Given the description of an element on the screen output the (x, y) to click on. 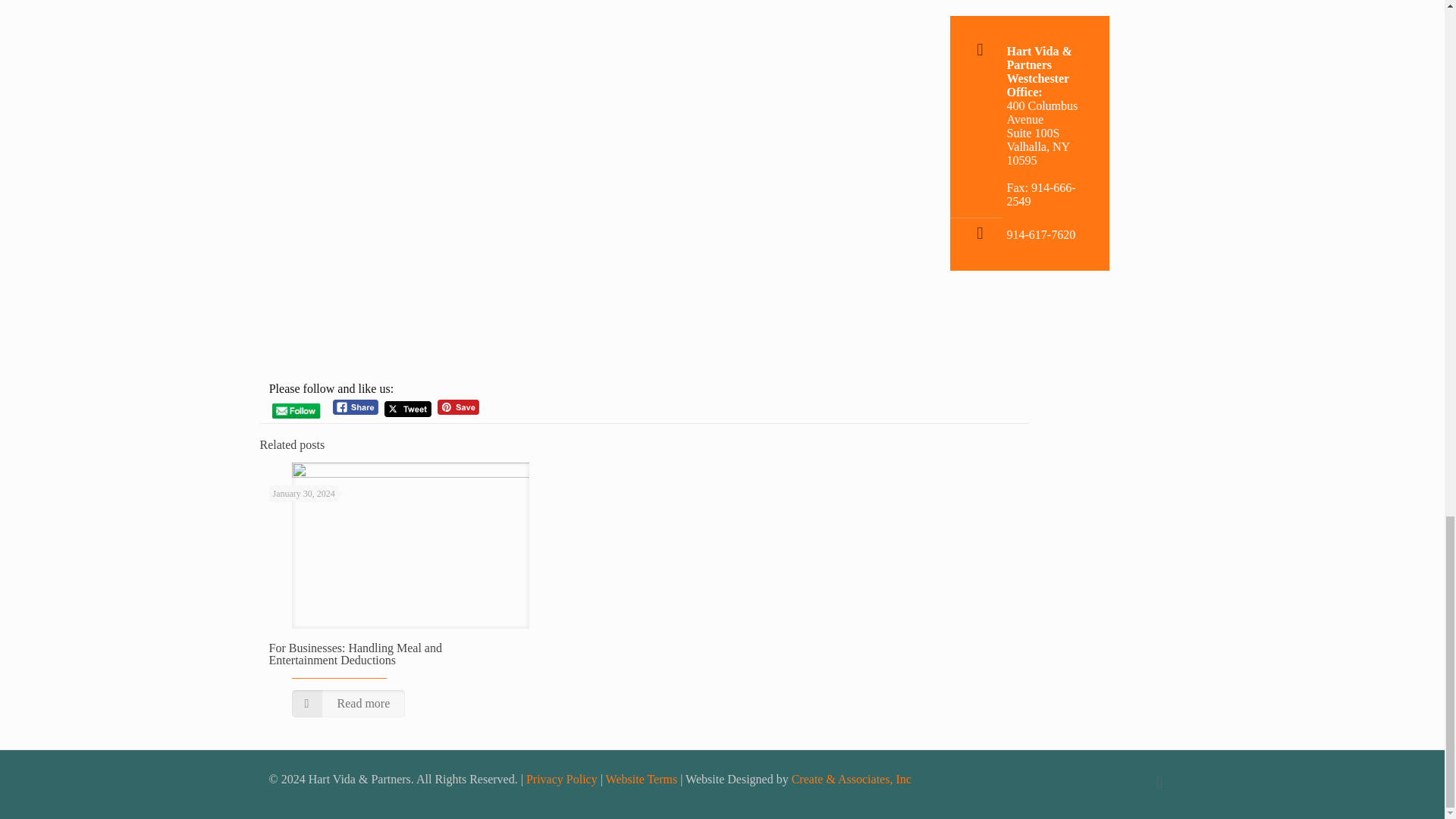
Tweet (407, 408)
Pin Share (458, 407)
914-617-7620 (1041, 234)
Facebook Share (355, 407)
